Given the description of an element on the screen output the (x, y) to click on. 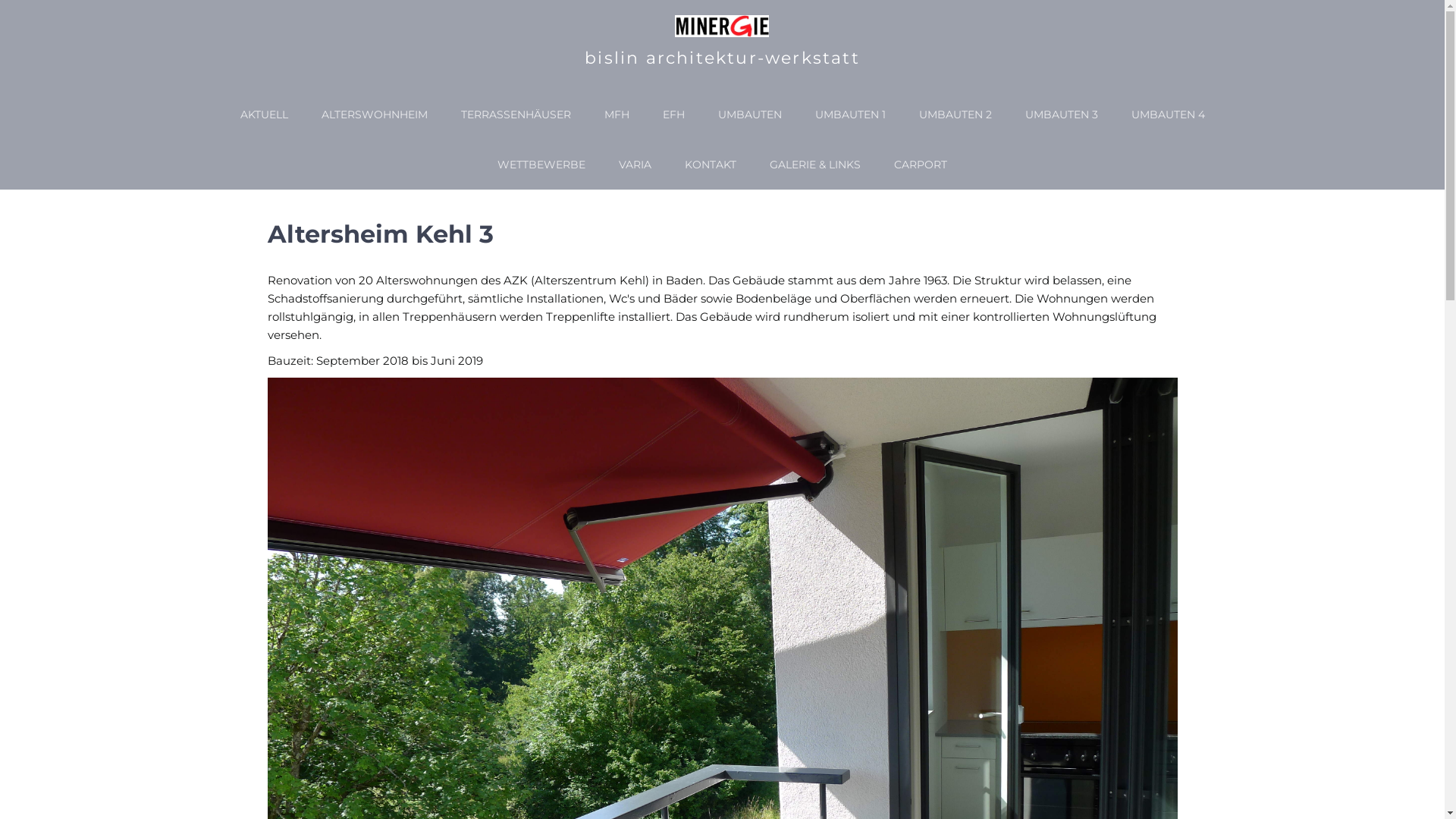
MFH Element type: text (615, 114)
bislin architektur-werkstatt Element type: text (721, 57)
UMBAUTEN 2 Element type: text (955, 114)
WETTBEWERBE Element type: text (541, 164)
CARPORT Element type: text (920, 164)
UMBAUTEN 3 Element type: text (1061, 114)
EFH Element type: text (673, 114)
GALERIE & LINKS Element type: text (814, 164)
UMBAUTEN Element type: text (749, 114)
KONTAKT Element type: text (710, 164)
ALTERSWOHNHEIM Element type: text (374, 114)
UMBAUTEN 1 Element type: text (849, 114)
UMBAUTEN 4 Element type: text (1167, 114)
VARIA Element type: text (634, 164)
AKTUELL Element type: text (263, 114)
